Given the description of an element on the screen output the (x, y) to click on. 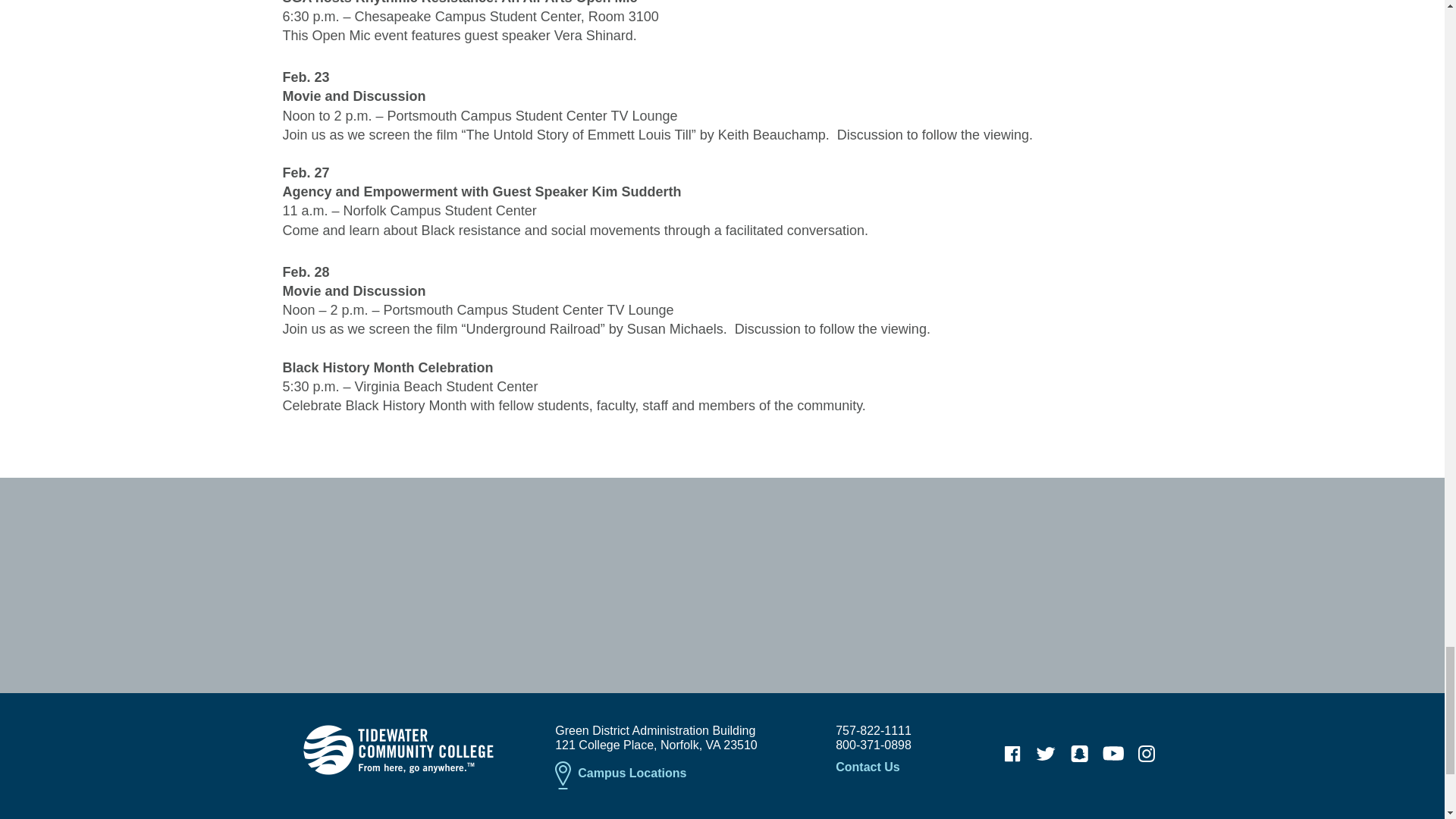
TCC on Snapchat (1079, 753)
TCC on Facebook (1012, 753)
TCC on Instagram (1146, 753)
Tidewater Community College (398, 749)
TCC on YouTube (1112, 753)
TCC on Twitter (1045, 753)
